Given the description of an element on the screen output the (x, y) to click on. 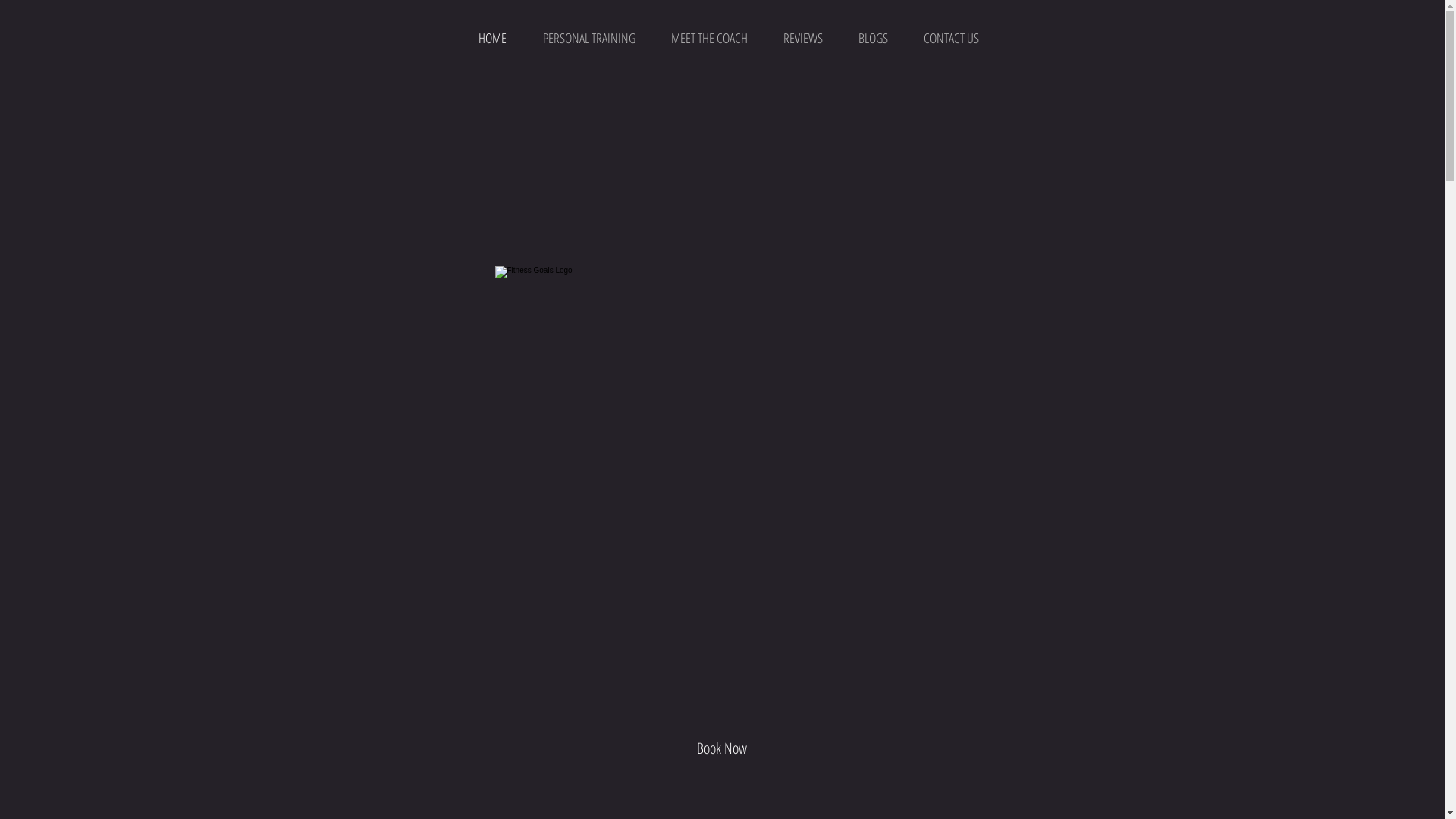
Final-Logo_Logo-for-Dark-Backgrounds_Optimized-1.png Element type: hover (721, 407)
REVIEWS Element type: text (802, 37)
PERSONAL TRAINING Element type: text (588, 37)
CONTACT US Element type: text (950, 37)
MEET THE COACH Element type: text (709, 37)
BLOGS Element type: text (872, 37)
HOME Element type: text (491, 37)
Book Now Element type: text (721, 747)
